Given the description of an element on the screen output the (x, y) to click on. 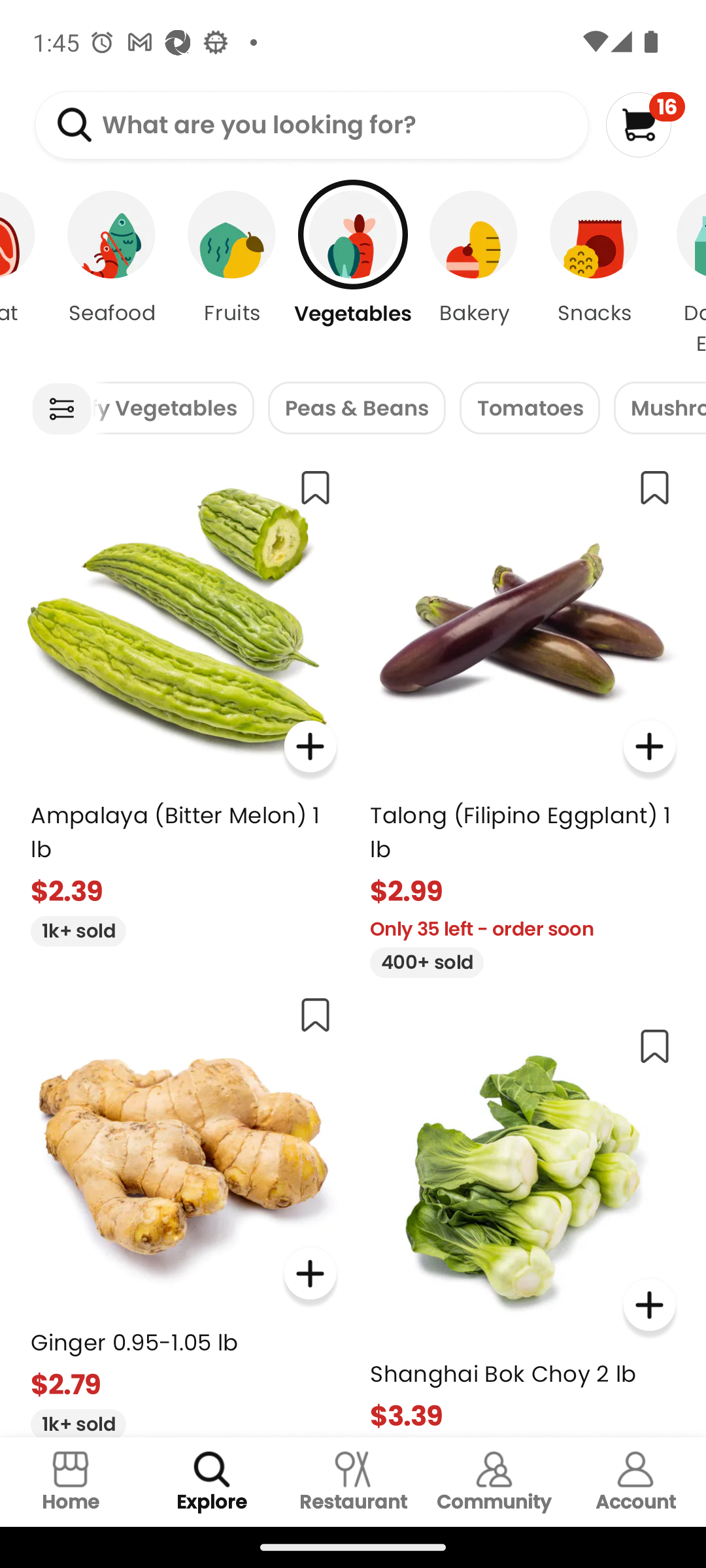
What are you looking for? (311, 124)
16 (644, 124)
Seafood (111, 274)
Fruits (232, 274)
Vegetables (352, 274)
Bakery (473, 274)
Snacks (593, 274)
Leafy Vegetables (173, 407)
Peas & Beans (356, 407)
Tomatoes (529, 407)
Mushrooms (659, 407)
Ampalaya (Bitter Melon) 1 lb $2.39 1k+ sold (182, 700)
Ginger 0.95-1.05 lb $2.79 1k+ sold (182, 1208)
Shanghai Bok Choy 2 lb $3.39 (522, 1224)
Home (70, 1482)
Explore (211, 1482)
Restaurant (352, 1482)
Community (493, 1482)
Account (635, 1482)
